Given the description of an element on the screen output the (x, y) to click on. 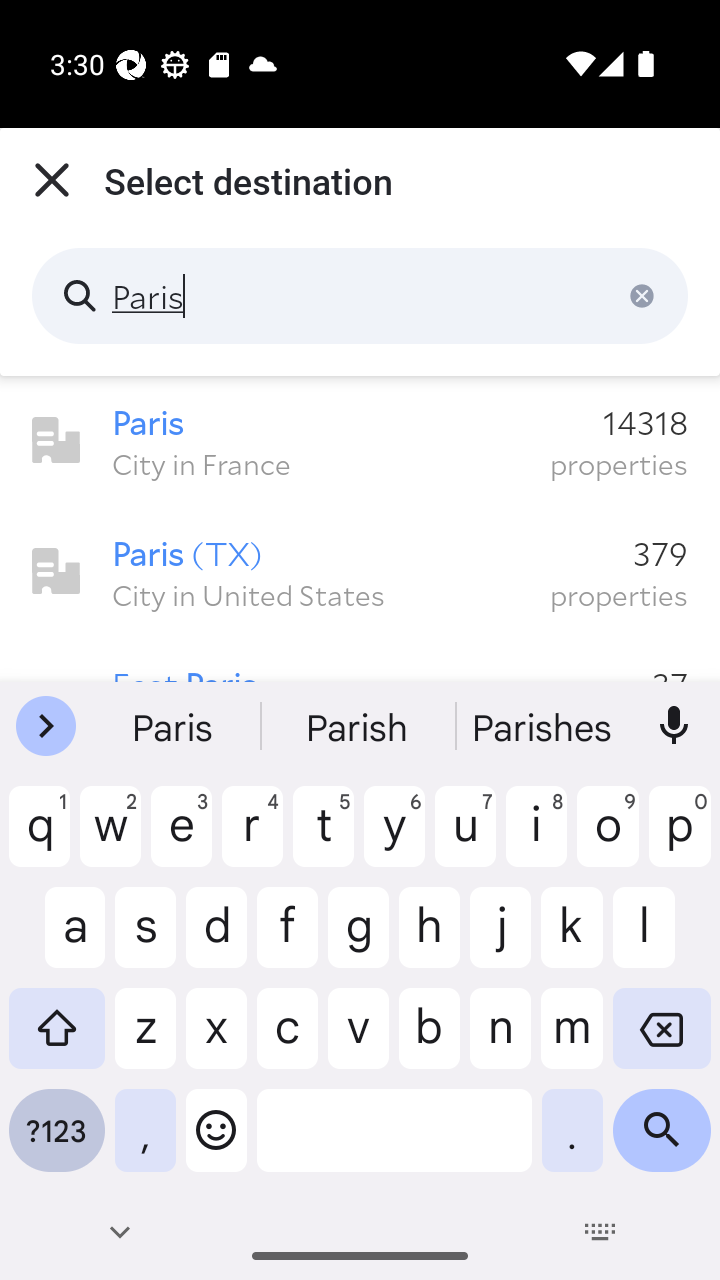
Paris (359, 296)
Paris 14318 City in France properties (360, 441)
Paris (TX) 379 City in United States properties (360, 571)
